Given the description of an element on the screen output the (x, y) to click on. 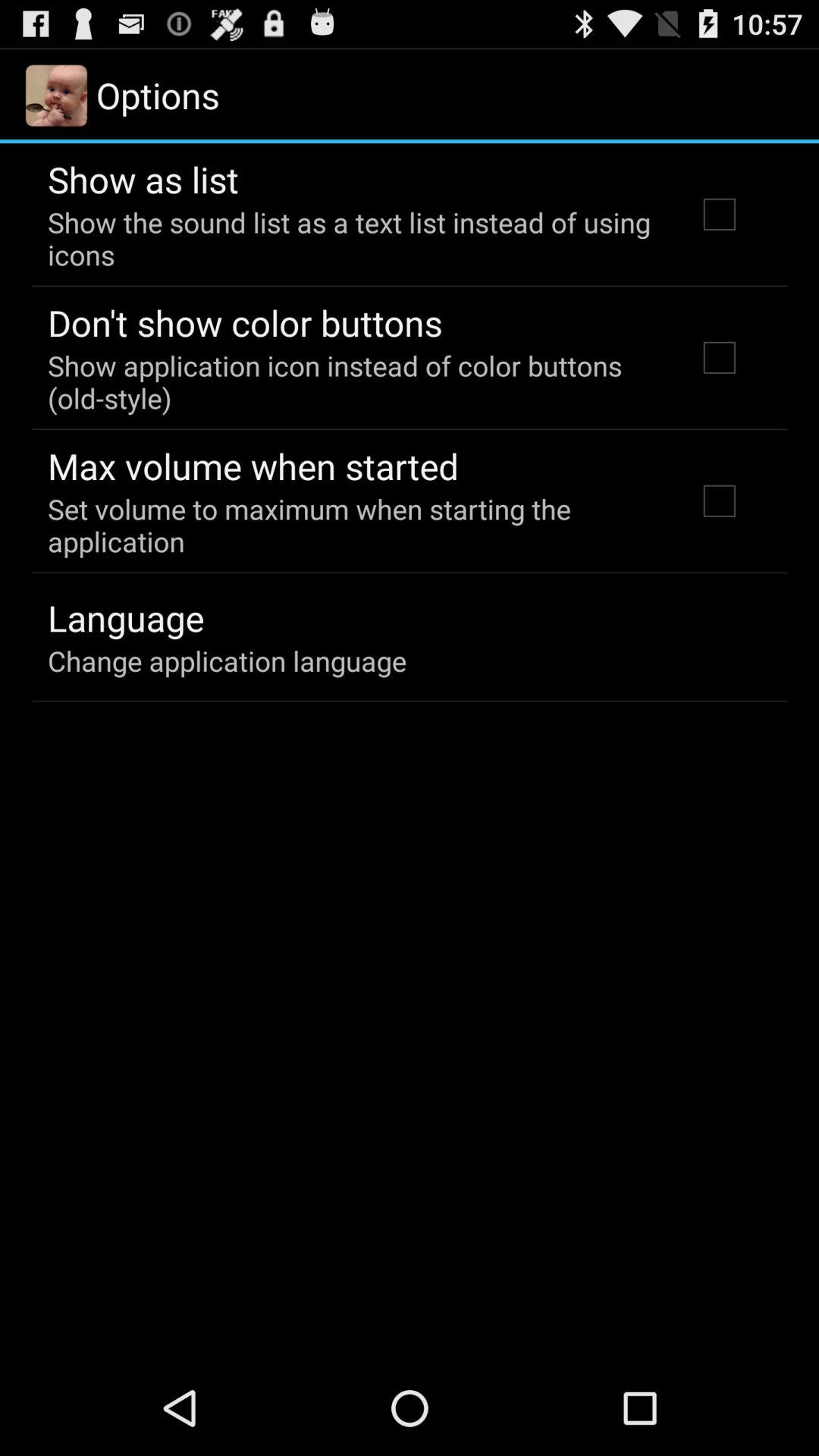
press the icon below the show the sound (244, 322)
